Given the description of an element on the screen output the (x, y) to click on. 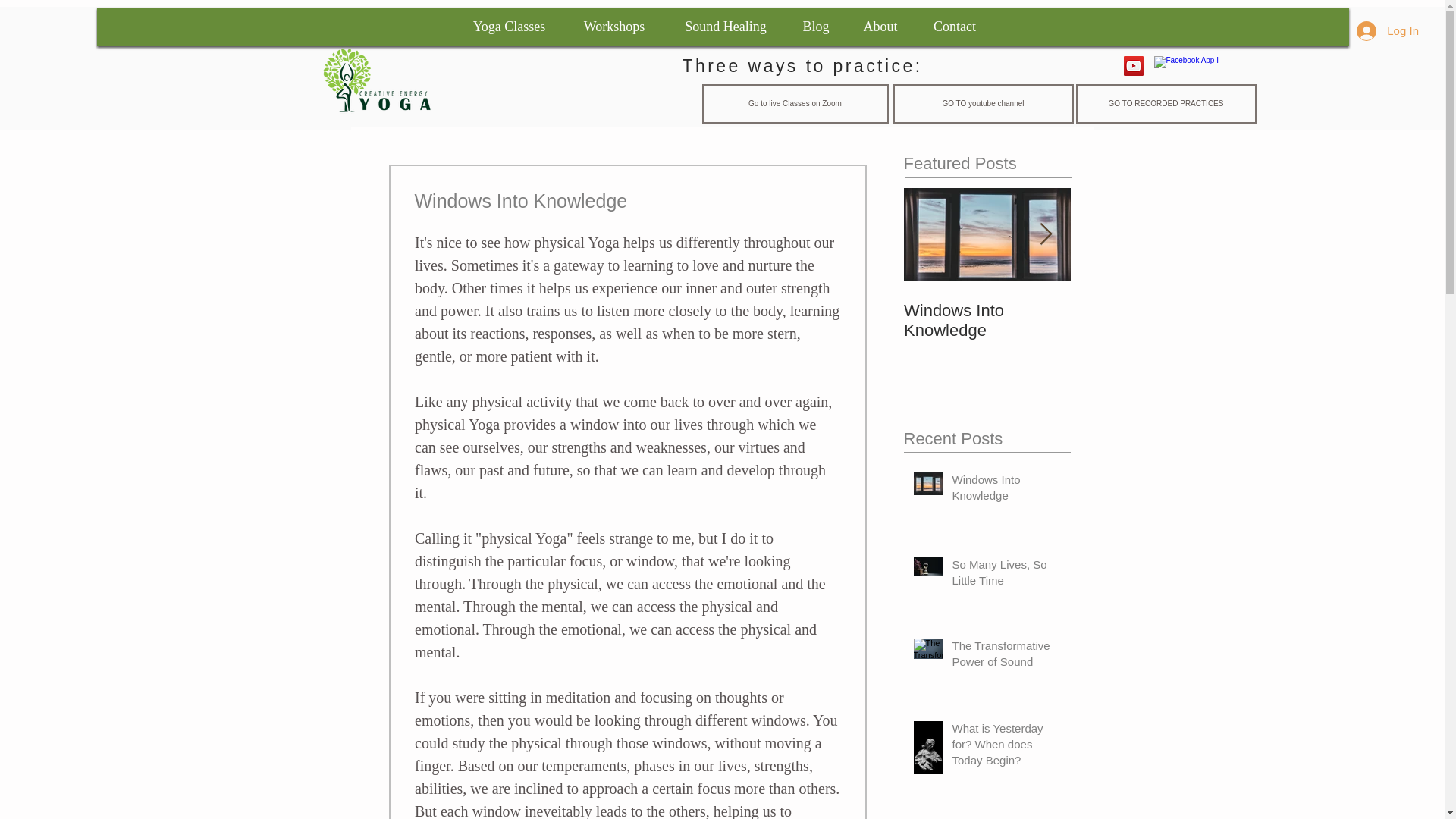
GO TO youtube channel (983, 103)
What is Yesterday for? When does Today Begin? (1006, 746)
Windows Into Knowledge (987, 320)
Contact (954, 27)
The Transformative Power of Sound (1006, 656)
GO TO RECORDED PRACTICES (1165, 103)
So Many Lives, So Little Time (1006, 575)
The Transformative Power of Sound (1153, 320)
Log In (1387, 30)
Go to live Classes on Zoom (794, 103)
Blog (816, 27)
Windows Into Knowledge (1006, 490)
About (880, 27)
